Given the description of an element on the screen output the (x, y) to click on. 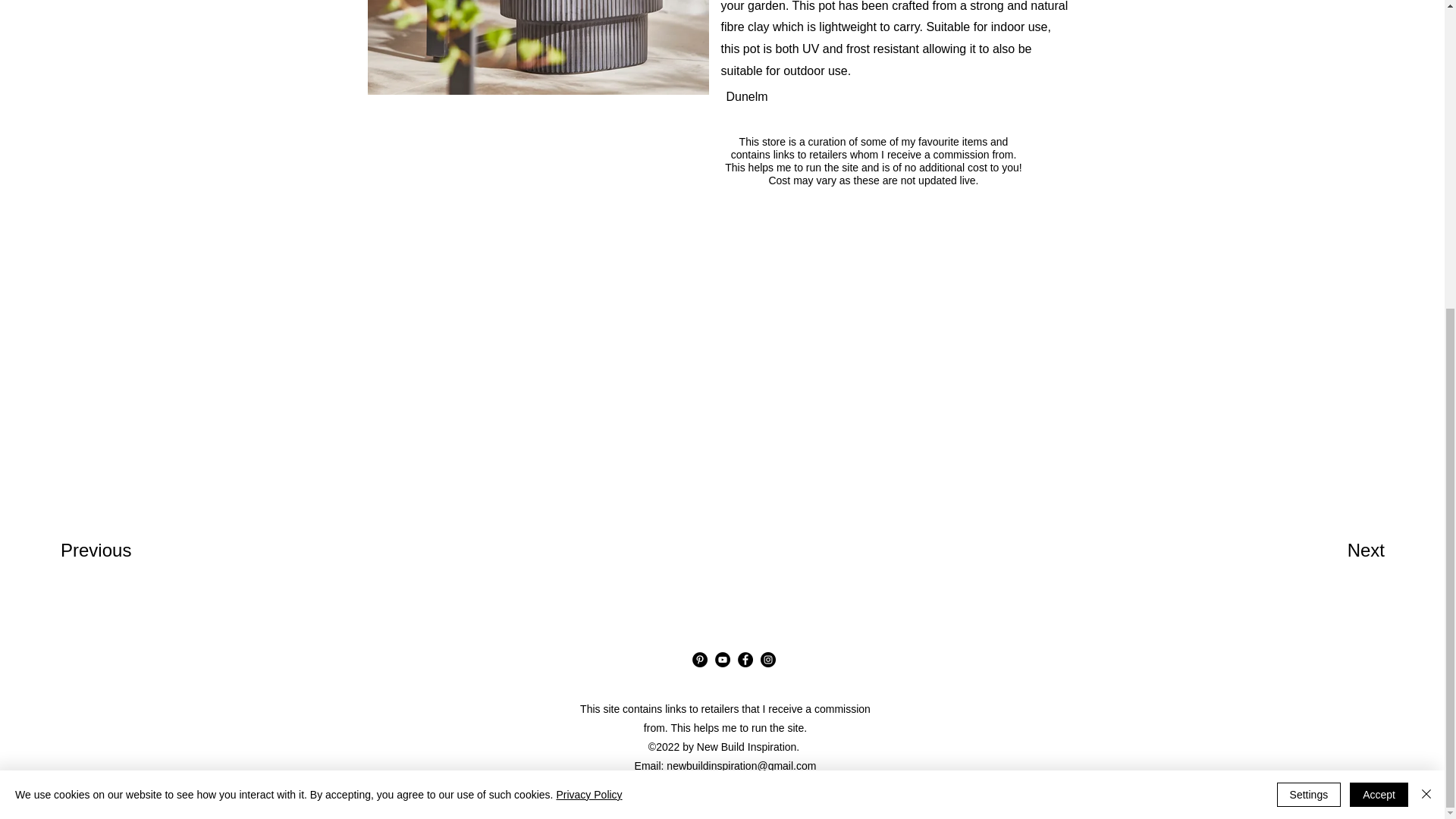
Settings (1308, 306)
Next (1334, 550)
Previous (114, 550)
Accept (1378, 306)
Privacy Policy (588, 306)
Privacy Policy (725, 784)
